Given the description of an element on the screen output the (x, y) to click on. 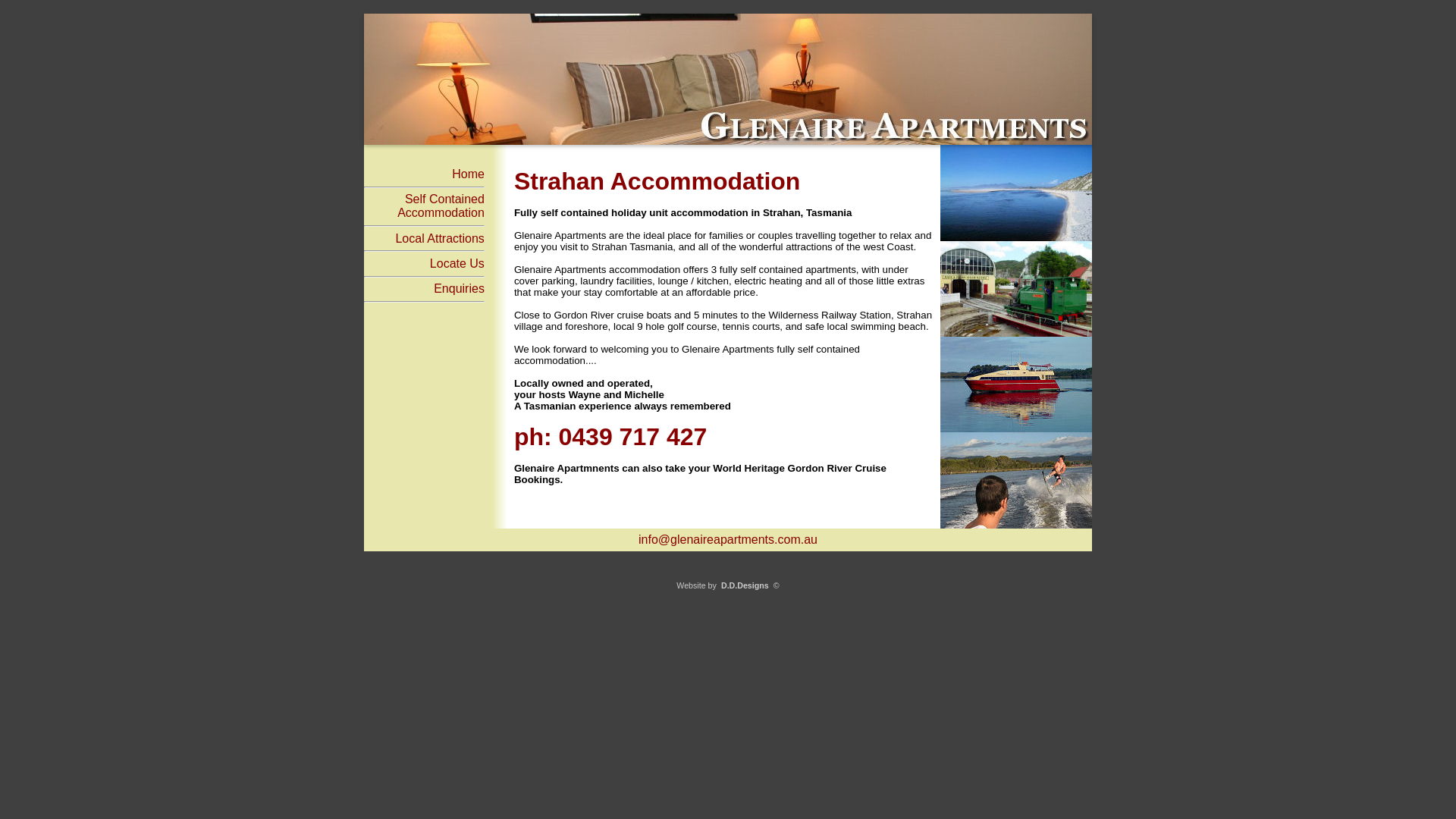
info@glenaireapartments.com.au Element type: text (727, 539)
Enquiries Element type: text (458, 288)
Locate Us Element type: text (456, 263)
Local Attractions Element type: text (439, 238)
Home Element type: text (467, 173)
Self Contained
Accommodation Element type: text (440, 205)
2 Element type: hover (728, 78)
D.D.Designs Element type: text (744, 585)
